Given the description of an element on the screen output the (x, y) to click on. 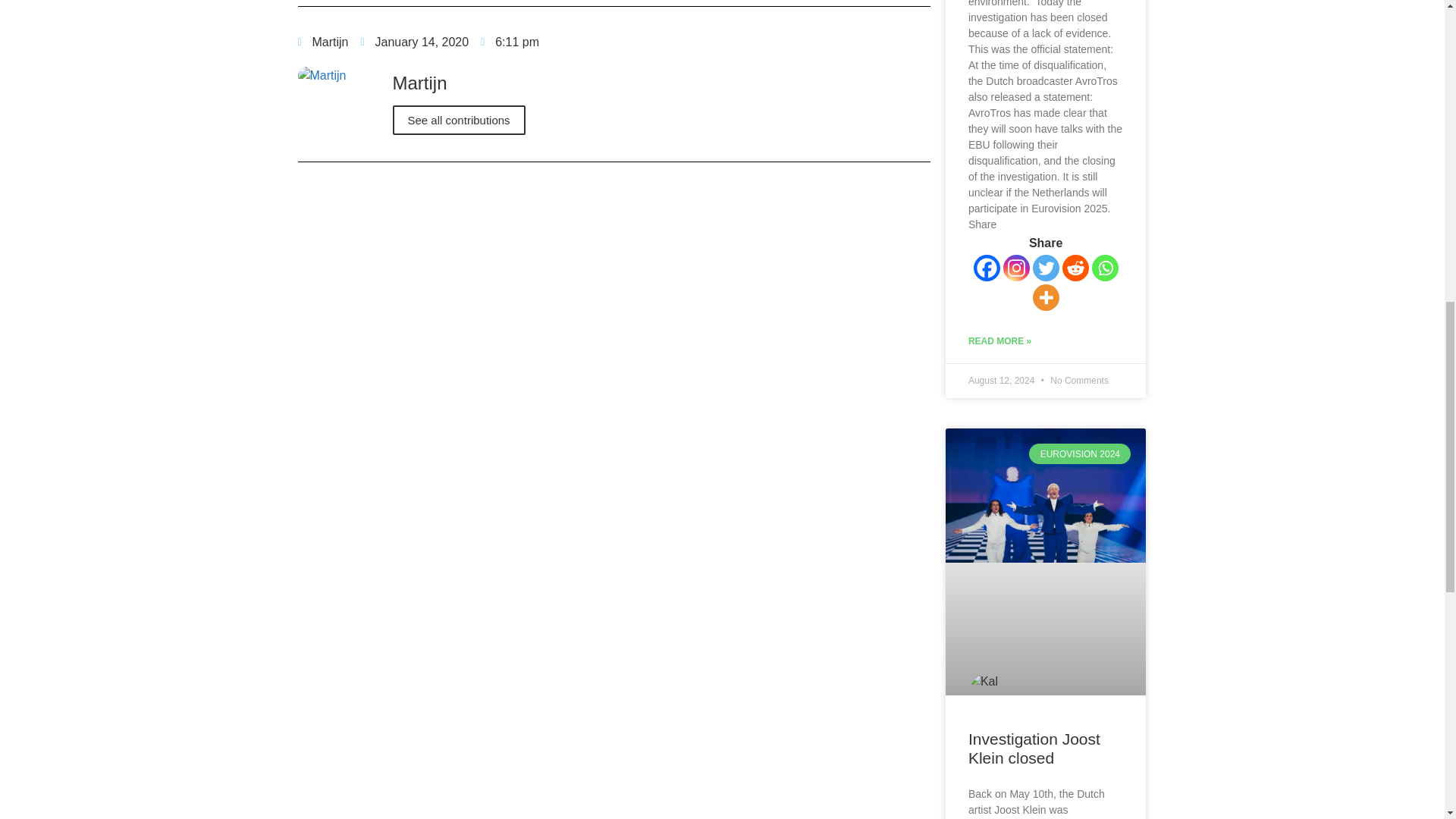
Reddit (1075, 267)
Whatsapp (1105, 267)
Twitter (1045, 267)
Instagram (1016, 267)
Facebook (987, 267)
